Given the description of an element on the screen output the (x, y) to click on. 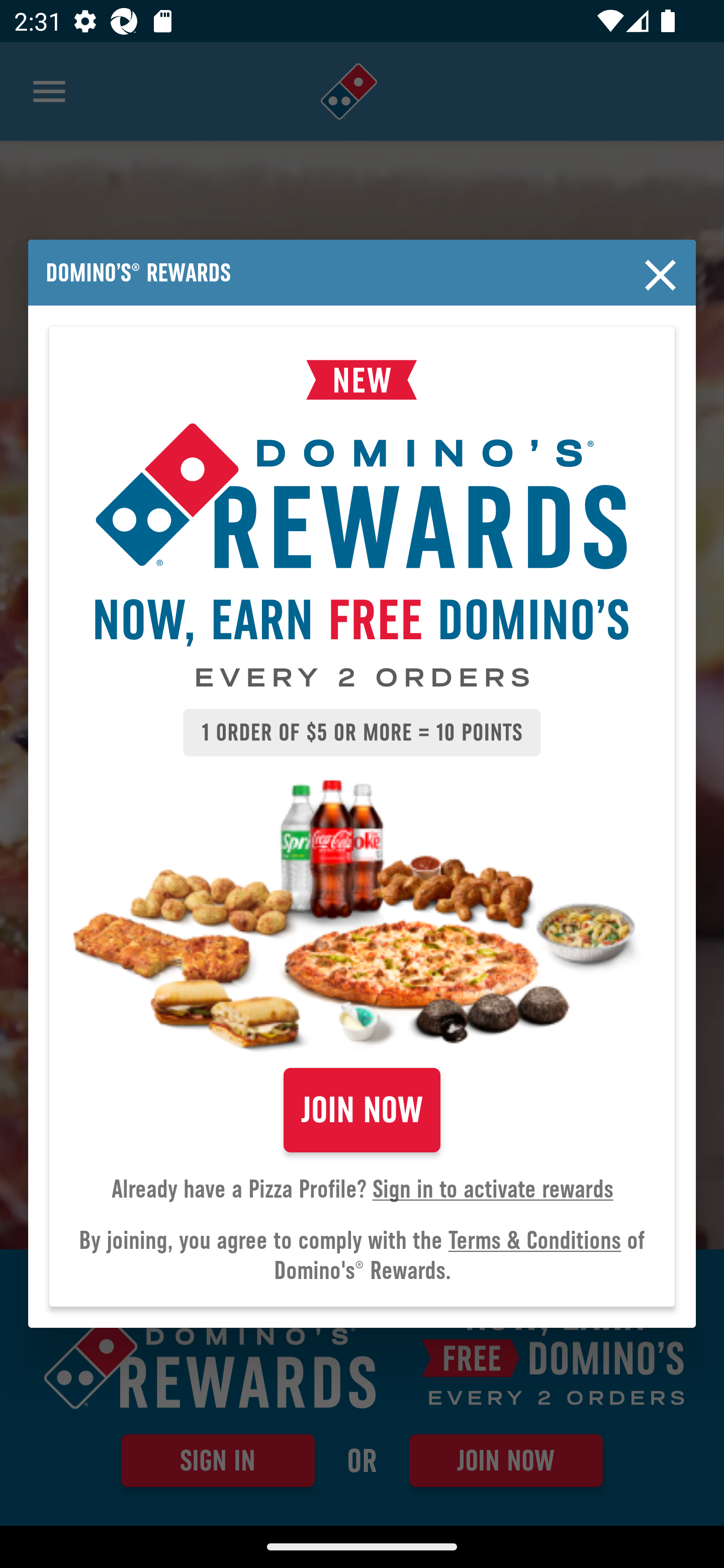
Close (660, 275)
JOIN NOW (361, 1109)
